Given the description of an element on the screen output the (x, y) to click on. 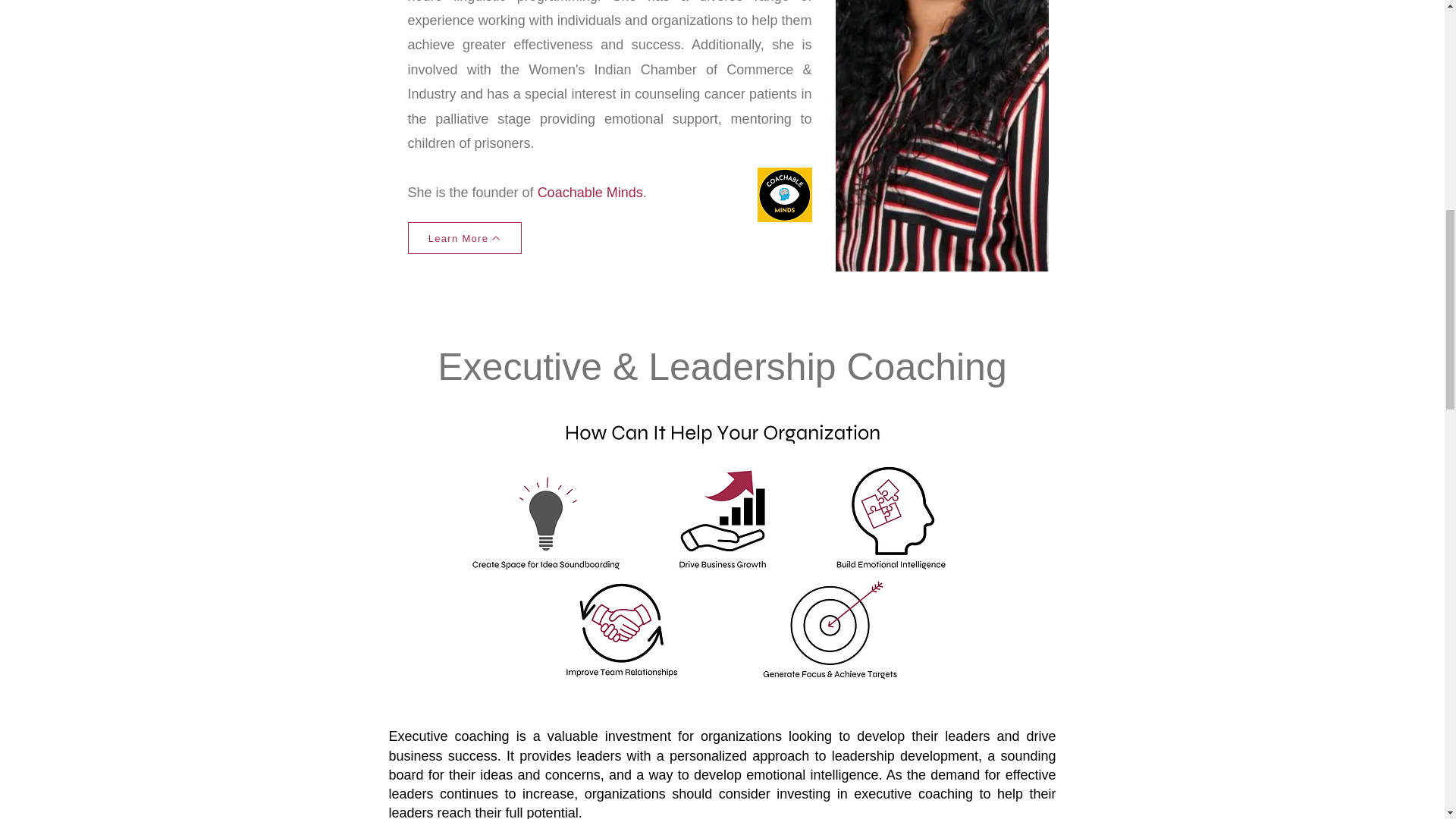
Learn More (464, 237)
